Given the description of an element on the screen output the (x, y) to click on. 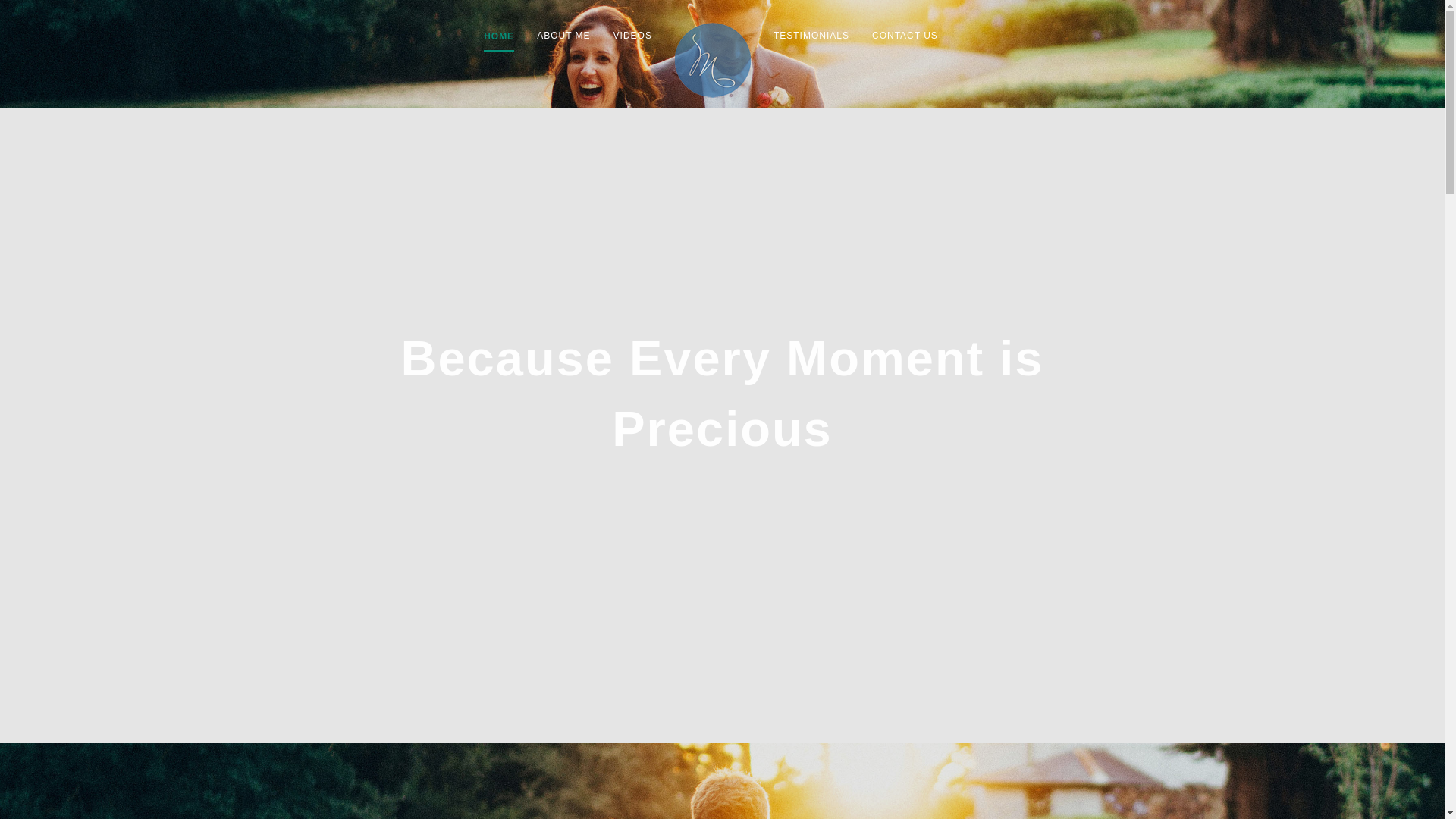
CONTACT US Element type: text (905, 35)
TESTIMONIALS Element type: text (811, 35)
HOME Element type: text (498, 36)
ABOUT ME Element type: text (562, 35)
VIDEOS Element type: text (632, 35)
Because Every Moment is Precious Element type: text (721, 393)
